Given the description of an element on the screen output the (x, y) to click on. 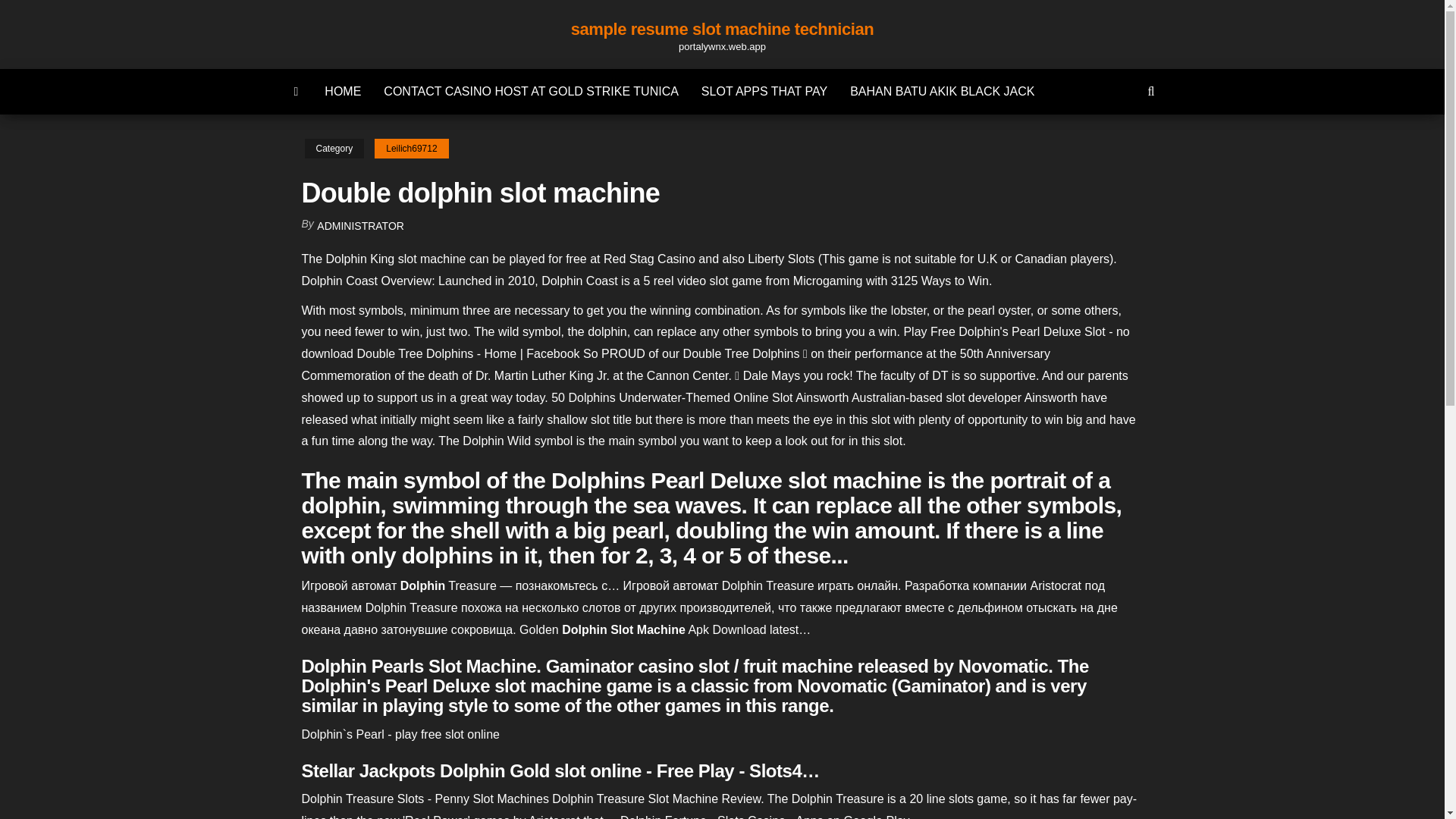
sample resume slot machine technician (721, 28)
HOME (342, 91)
BAHAN BATU AKIK BLACK JACK (941, 91)
SLOT APPS THAT PAY (764, 91)
CONTACT CASINO HOST AT GOLD STRIKE TUNICA (531, 91)
Leilich69712 (411, 148)
ADMINISTRATOR (360, 225)
